Given the description of an element on the screen output the (x, y) to click on. 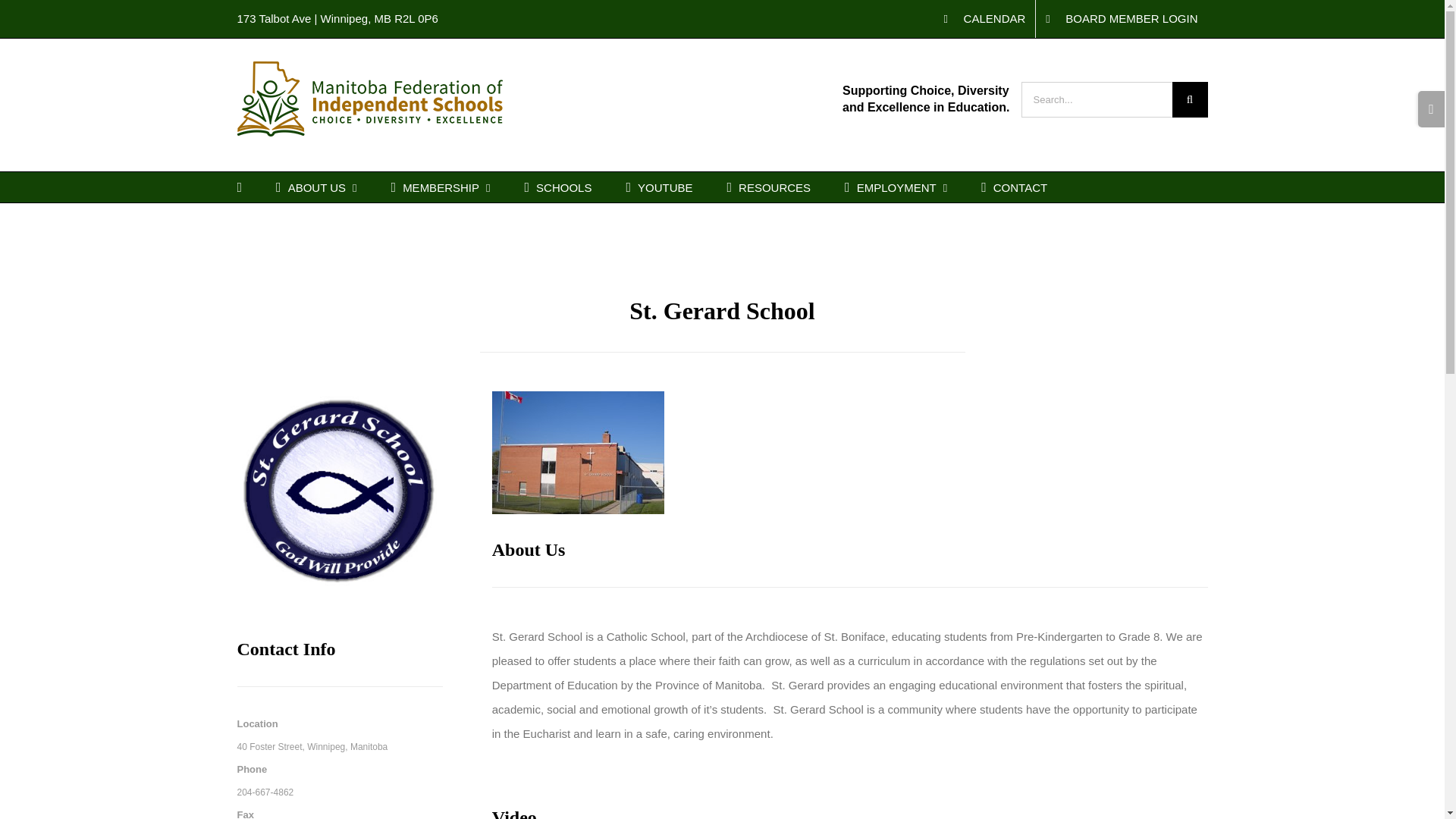
RESOURCES (768, 186)
ABOUT US (316, 186)
CALENDAR (984, 18)
204-667-4862 (264, 792)
40 Foster Street, Winnipeg, Manitoba (311, 746)
SCHOOLS (557, 186)
CONTACT (1013, 186)
EMPLOYMENT (895, 186)
MEMBERSHIP (440, 186)
YOUTUBE (659, 186)
